Given the description of an element on the screen output the (x, y) to click on. 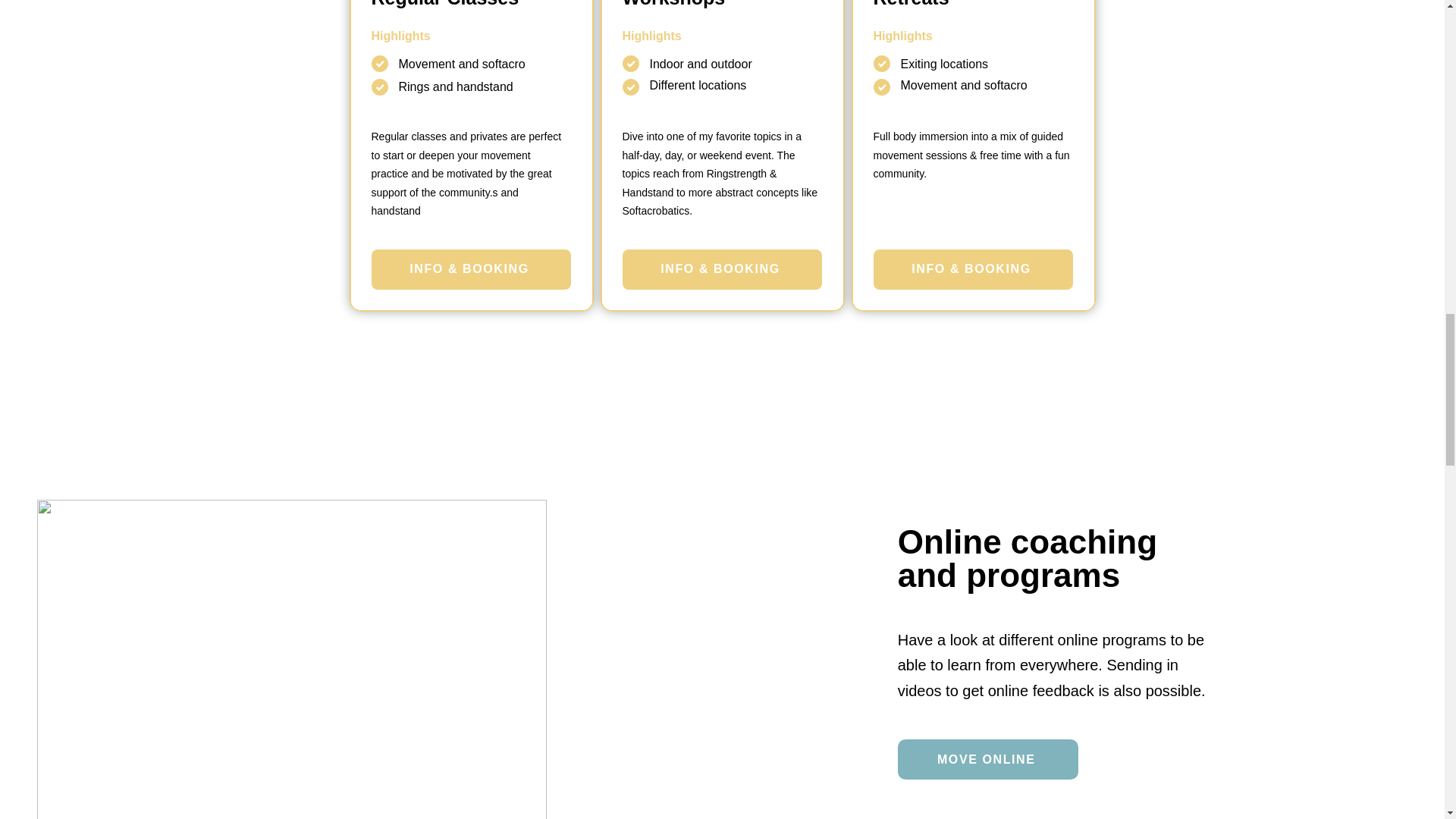
MOVE ONLINE (988, 759)
